Given the description of an element on the screen output the (x, y) to click on. 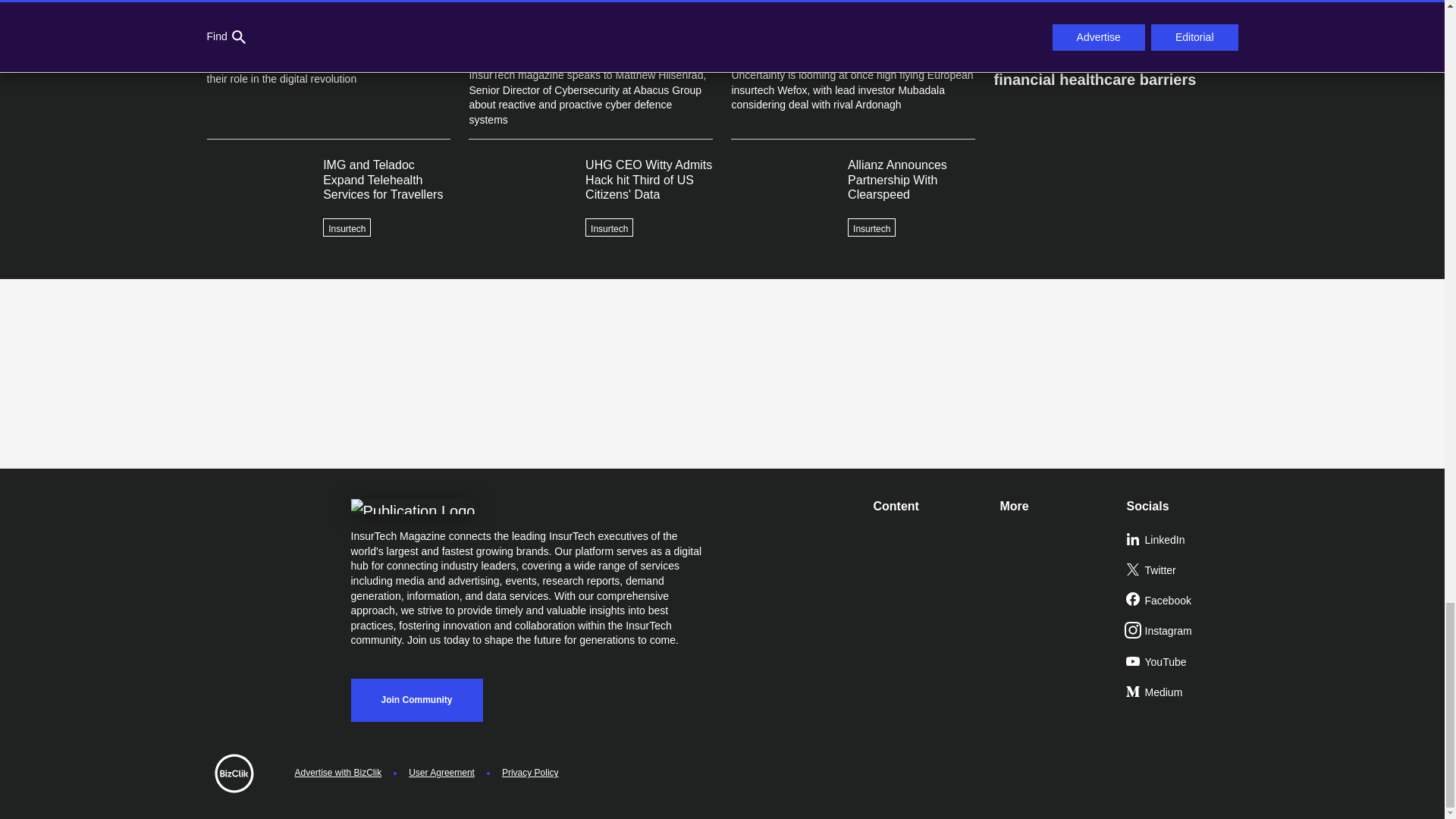
Join Community (415, 699)
MoneyLIVE Summit 2024: Qover Talks Embedded Insurance (1114, 18)
LinkedIn (1182, 540)
Twitter (1182, 571)
